Given the description of an element on the screen output the (x, y) to click on. 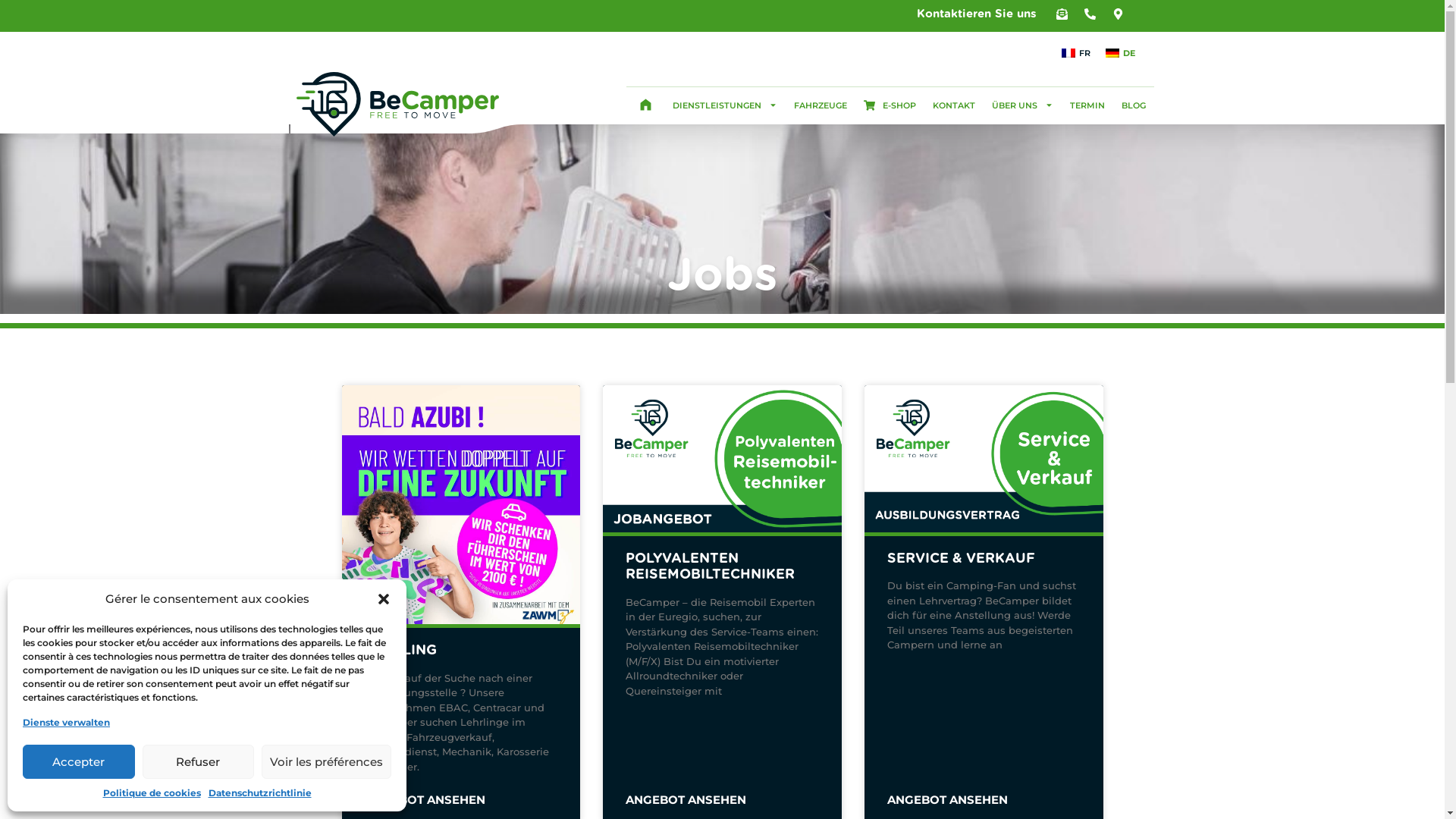
E-SHOP Element type: text (889, 105)
KONTAKT Element type: text (953, 105)
DIENSTLEISTUNGEN Element type: text (724, 105)
HOMEPAGE Element type: text (645, 105)
TERMIN Element type: text (1087, 105)
DE Element type: text (1120, 52)
SERVICE & VERKAUF Element type: text (961, 558)
BLOG Element type: text (1133, 105)
LEHRLING Element type: text (400, 650)
Politique de cookies Element type: text (151, 793)
Accepter Element type: text (78, 761)
FAHRZEUGE Element type: text (820, 105)
Refuser Element type: text (198, 761)
ANGEBOT ANSEHEN Element type: text (685, 800)
ANGEBOT ANSEHEN Element type: text (424, 800)
POLYVALENTEN REISEMOBILTECHNIKER Element type: text (709, 567)
Dienste verwalten Element type: text (65, 722)
ANGEBOT ANSEHEN Element type: text (947, 800)
Datenschutzrichtlinie Element type: text (258, 793)
FR Element type: text (1076, 52)
